Given the description of an element on the screen output the (x, y) to click on. 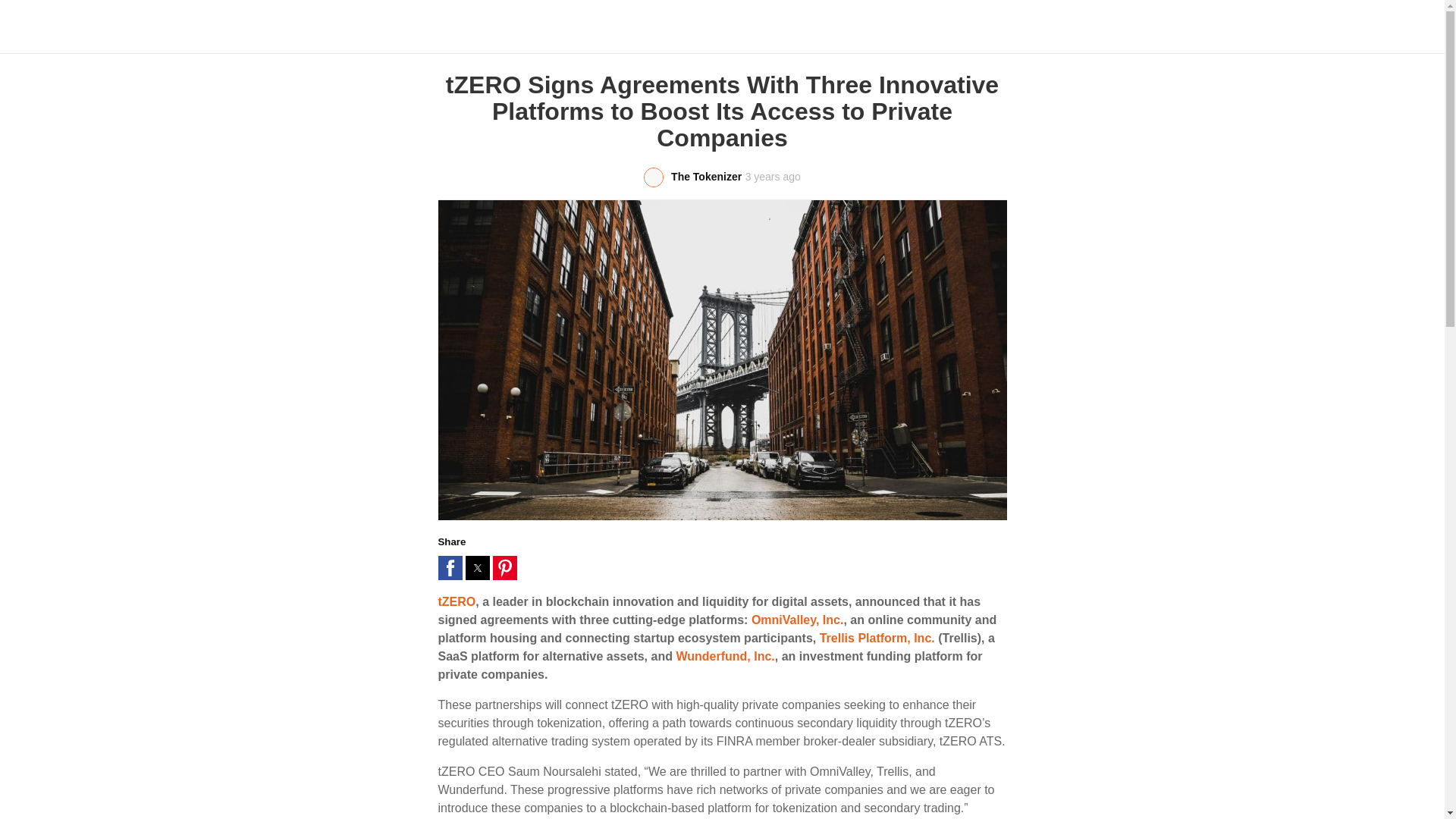
Trellis Platform, Inc. (876, 637)
tZERO (457, 601)
Wunderfund, Inc. (724, 656)
OmniValley, Inc. (797, 619)
